Given the description of an element on the screen output the (x, y) to click on. 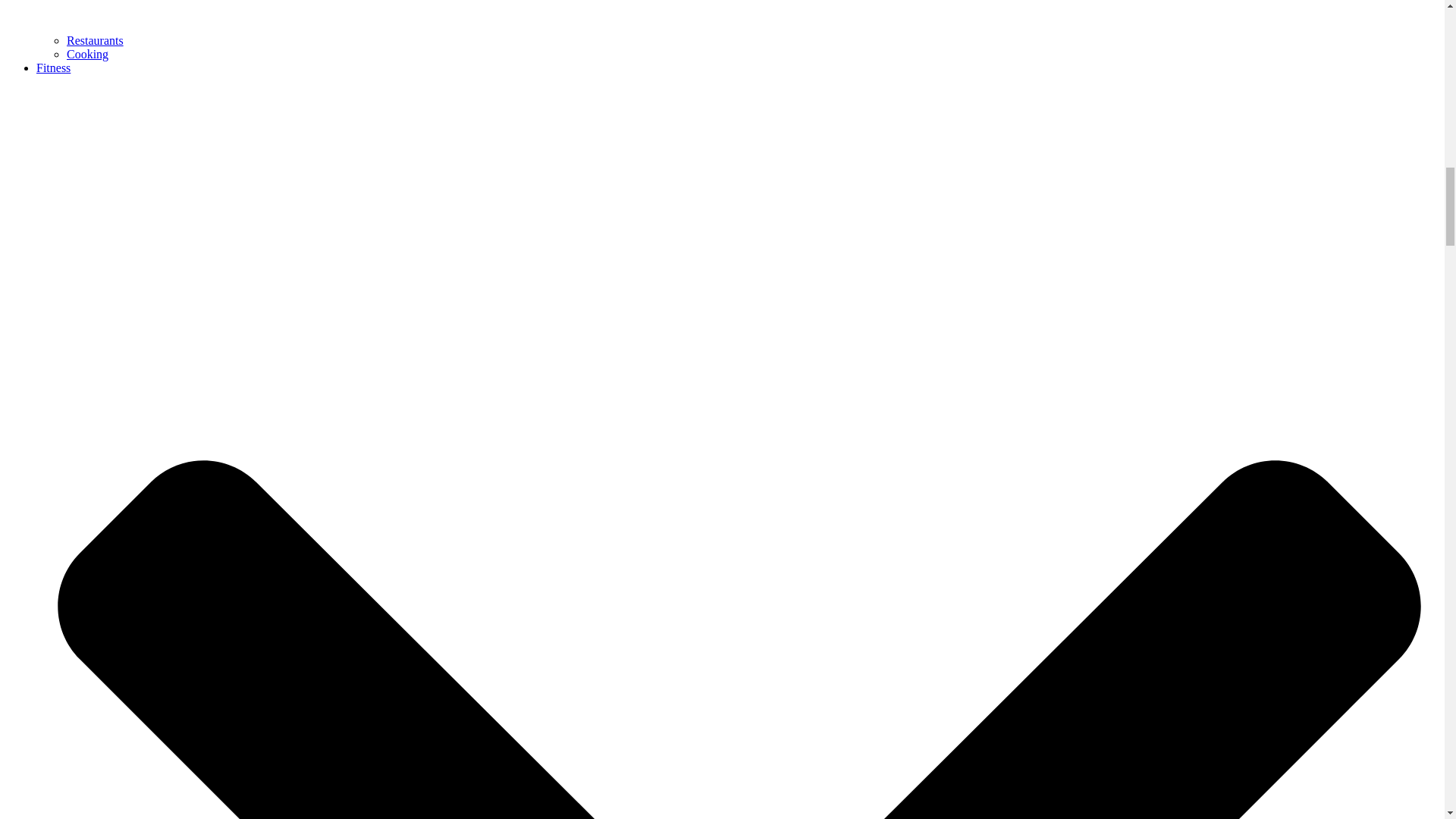
Cooking (86, 53)
Restaurants (94, 40)
Fitness (52, 67)
